Given the description of an element on the screen output the (x, y) to click on. 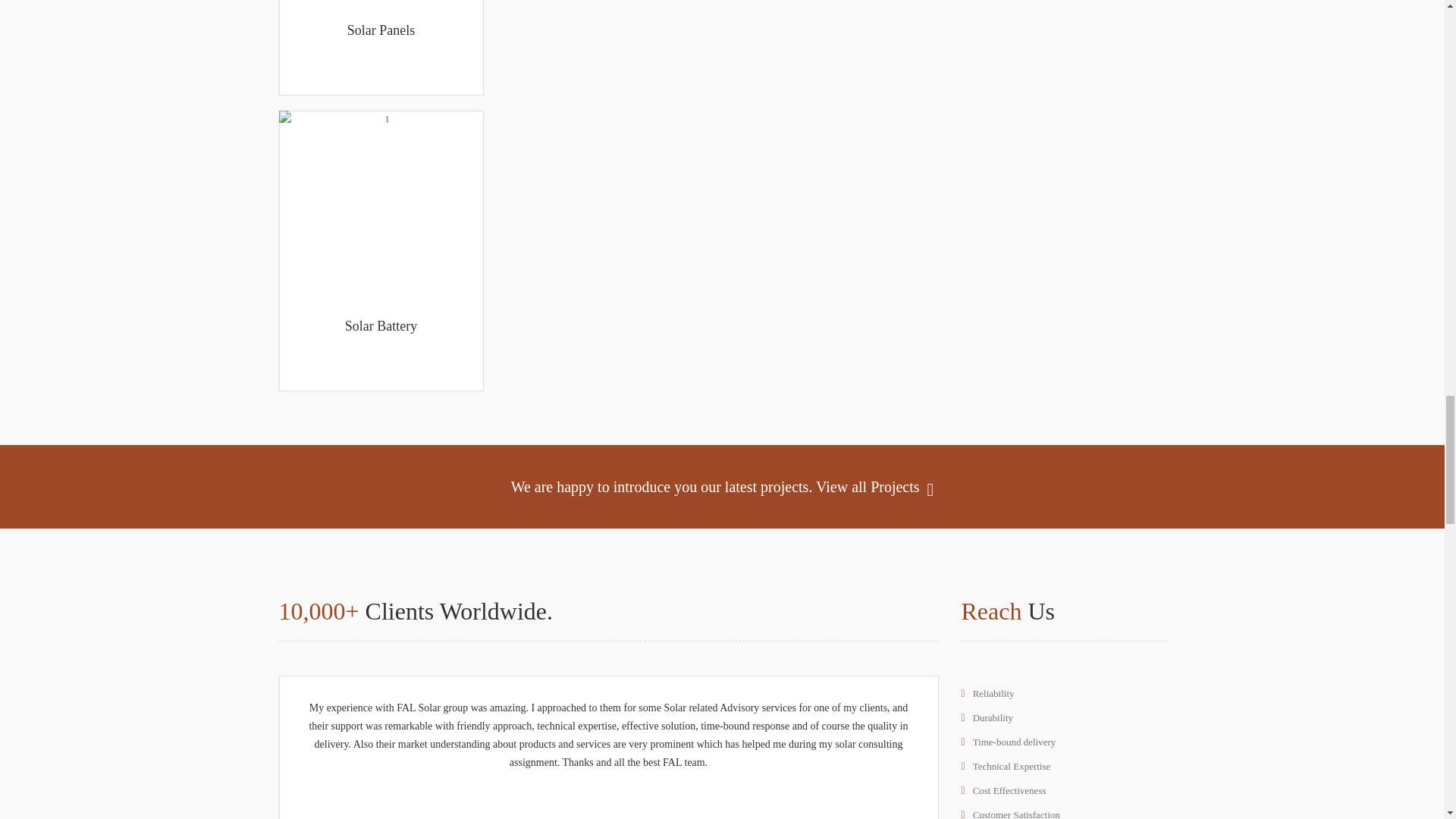
1 (381, 2)
1 (381, 205)
